Given the description of an element on the screen output the (x, y) to click on. 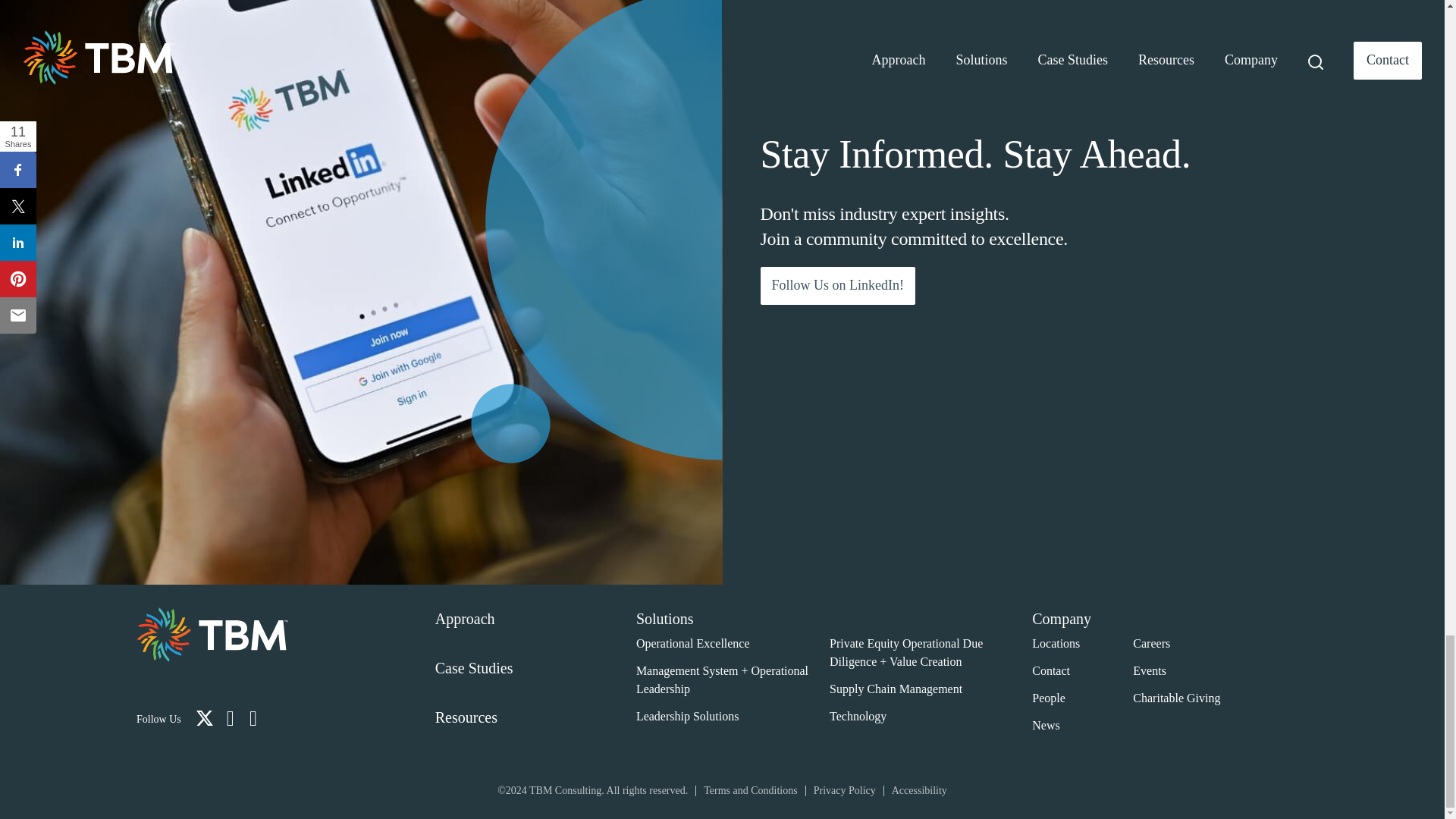
Follow Us on LinkedIn! (837, 285)
